Given the description of an element on the screen output the (x, y) to click on. 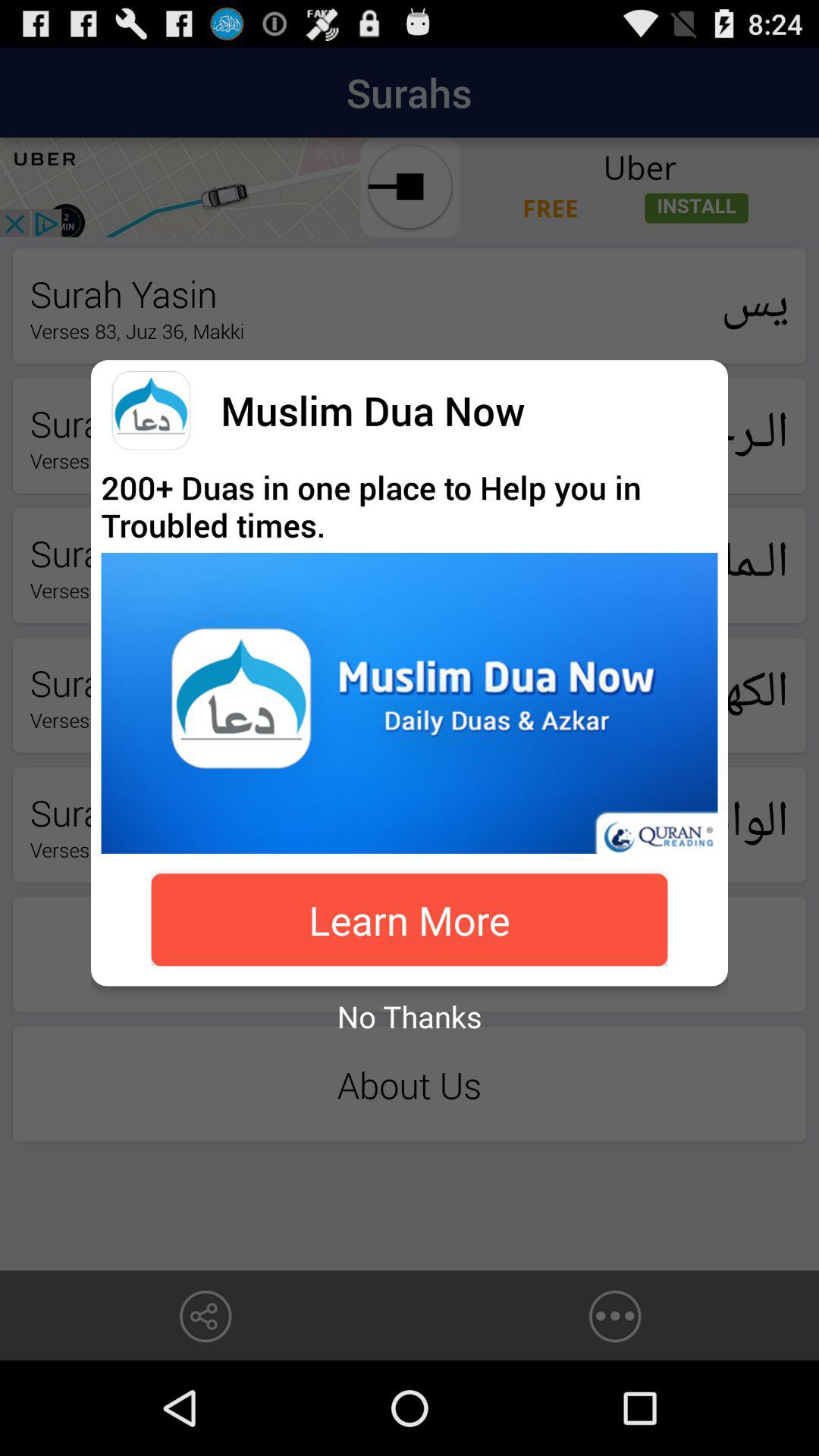
press the app above the learn more icon (409, 702)
